Given the description of an element on the screen output the (x, y) to click on. 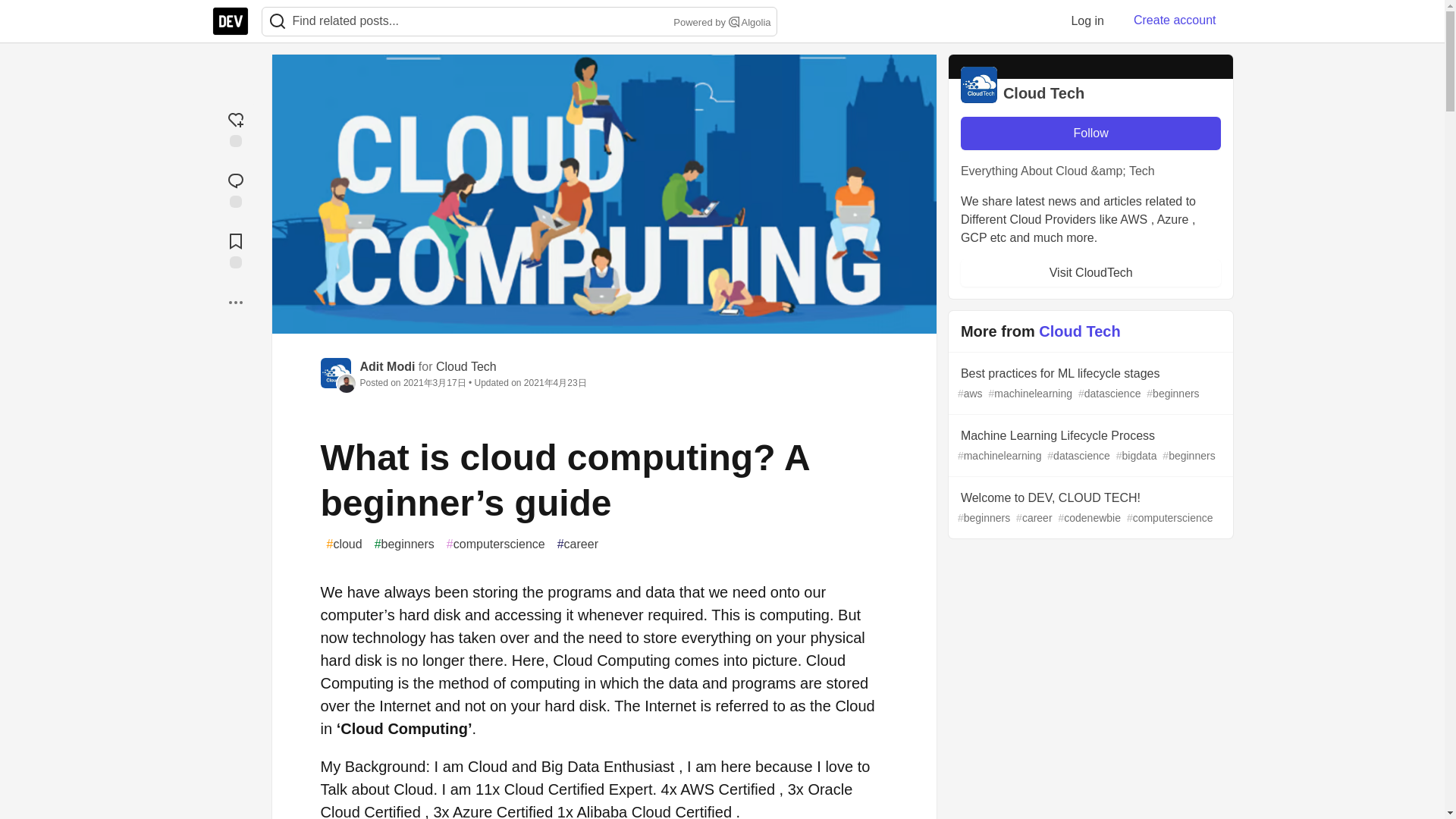
Create account (1174, 20)
More... (234, 302)
Search (276, 21)
Cloud Tech (465, 366)
More... (234, 302)
Search (277, 21)
Search (734, 21)
Log in (1087, 20)
Adit Modi (386, 366)
Powered by Search Algolia (720, 22)
